Given the description of an element on the screen output the (x, y) to click on. 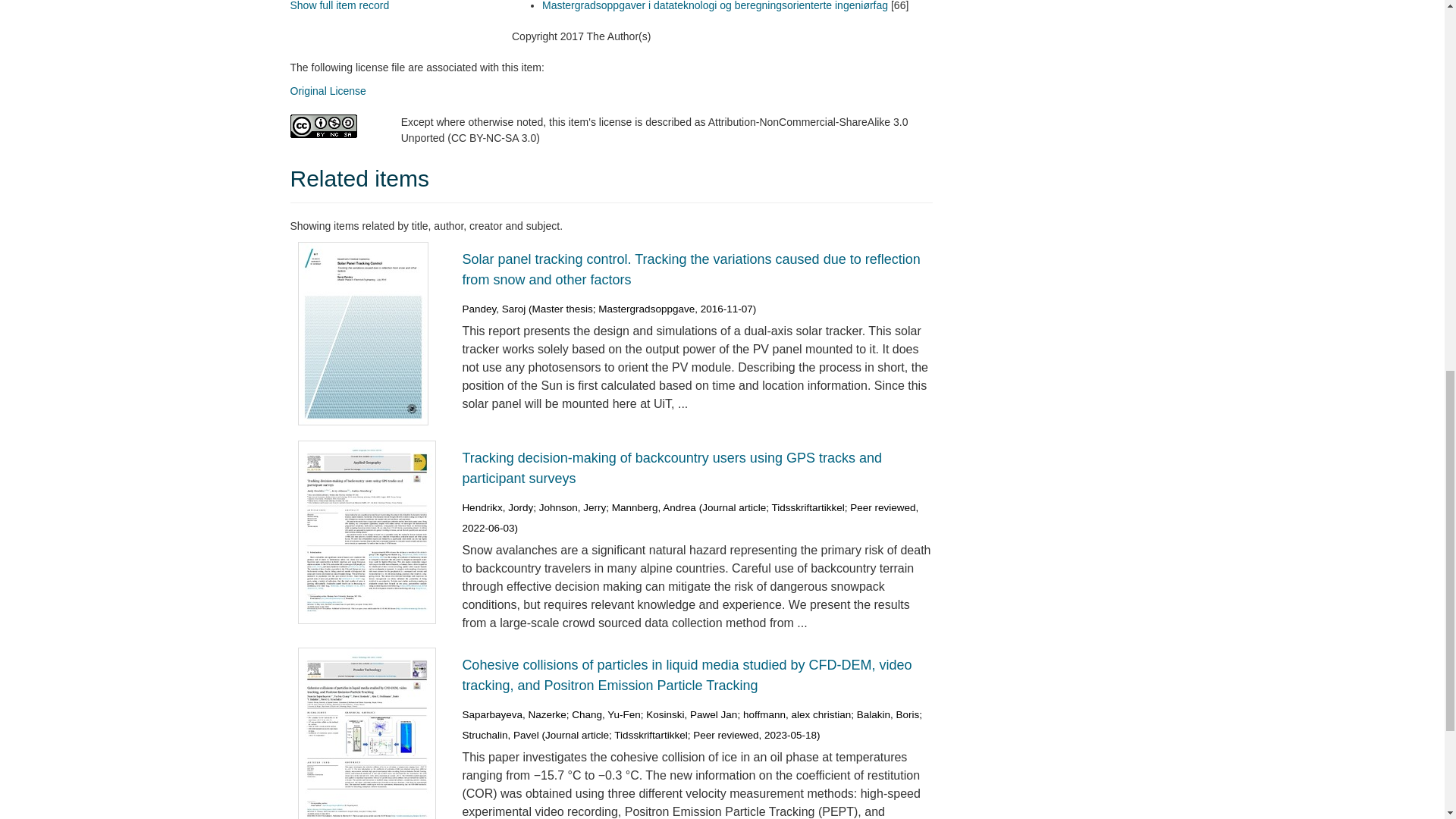
Show full item record (338, 5)
Original License (327, 91)
